Given the description of an element on the screen output the (x, y) to click on. 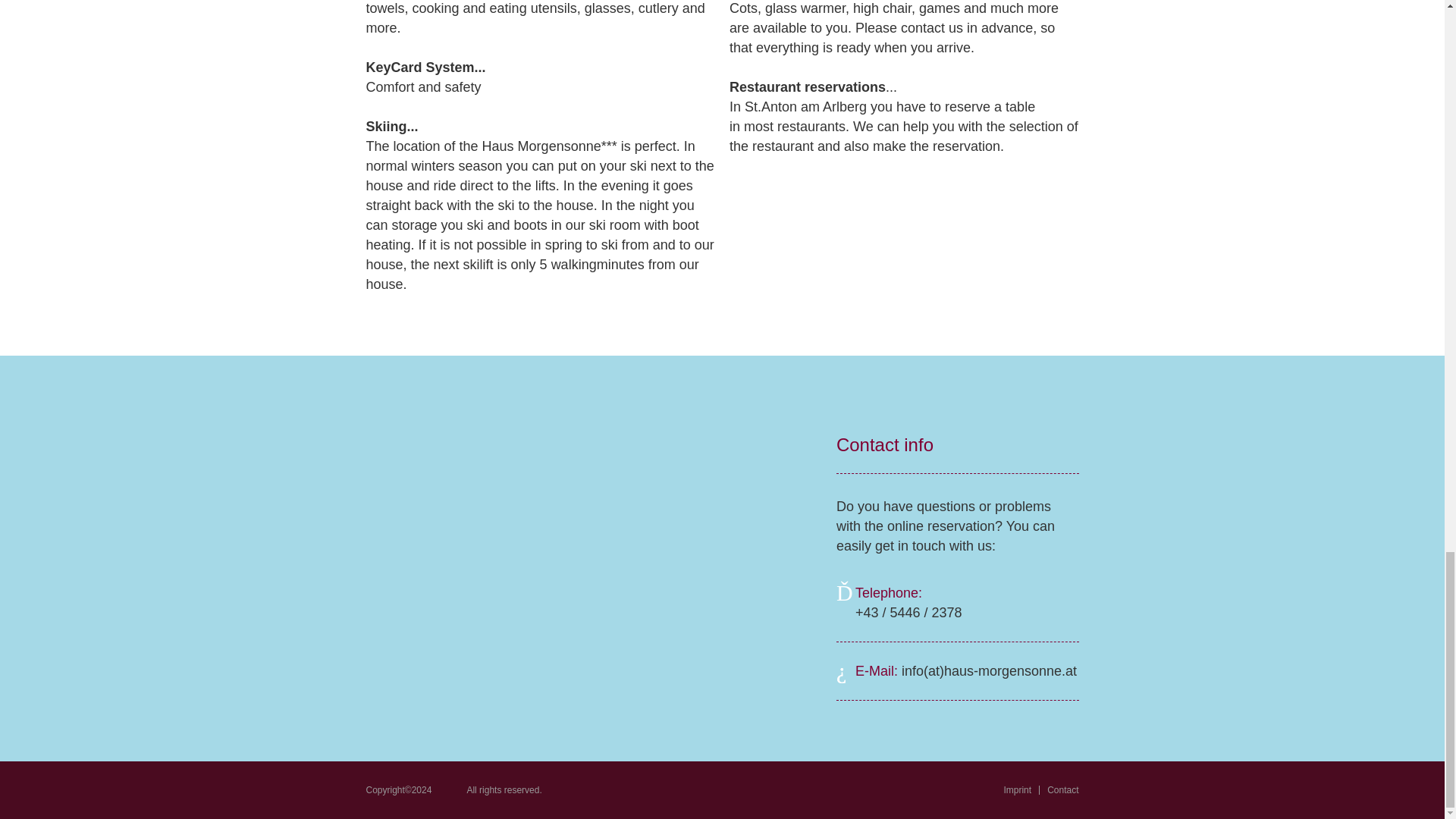
Imprint (1016, 789)
Contact (1062, 789)
Opens window for sending email (989, 670)
Contact (1062, 789)
Imprint (1016, 789)
